Given the description of an element on the screen output the (x, y) to click on. 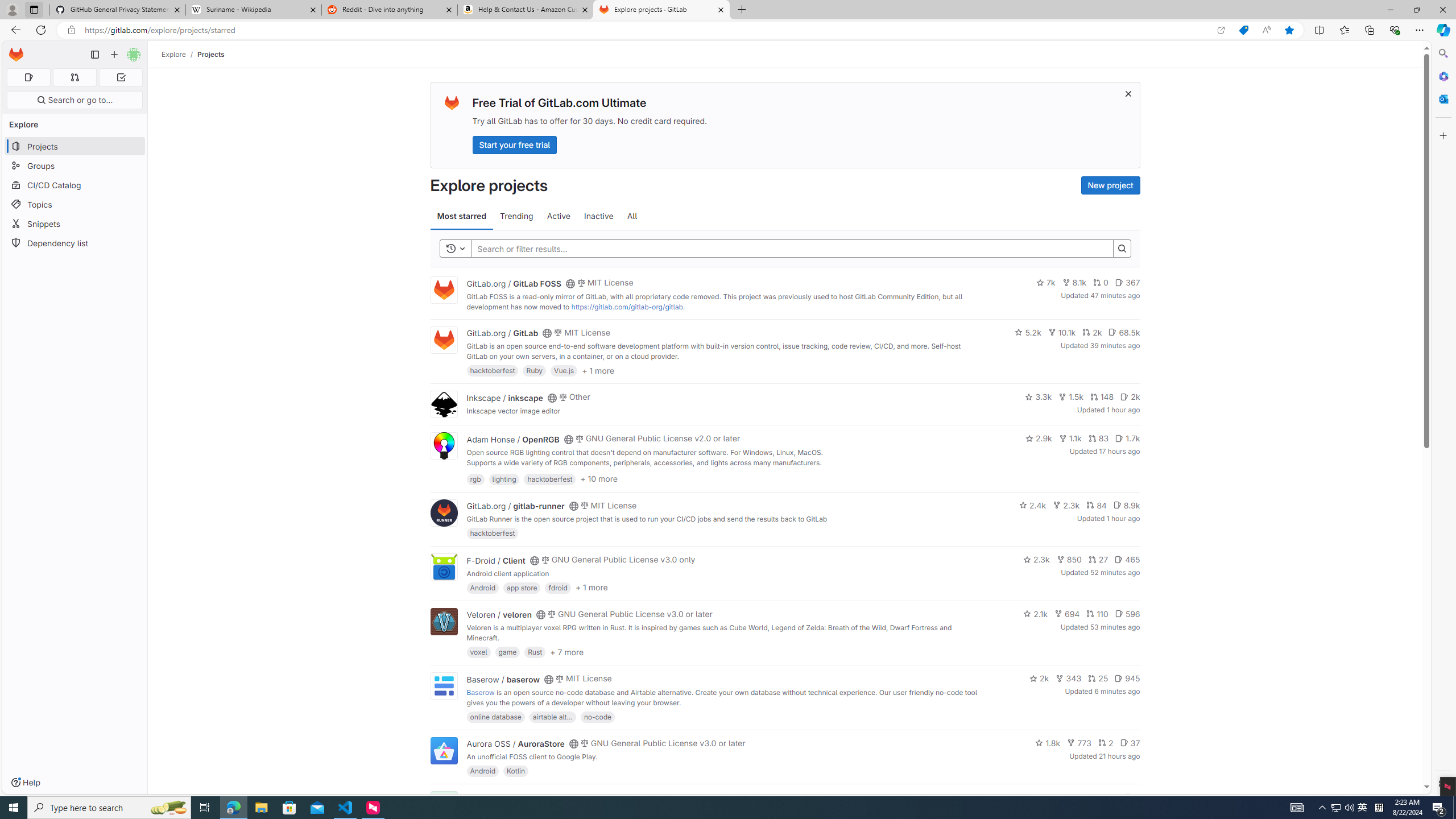
143 (1085, 797)
Projects (211, 53)
Vue.js (563, 370)
773 (1079, 742)
945 (1127, 678)
Topics (74, 203)
Explore/ (179, 53)
GitHub General Privacy Statement - GitHub Docs (117, 9)
game (507, 651)
2k (1039, 678)
Suriname - Wikipedia (253, 9)
